Given the description of an element on the screen output the (x, y) to click on. 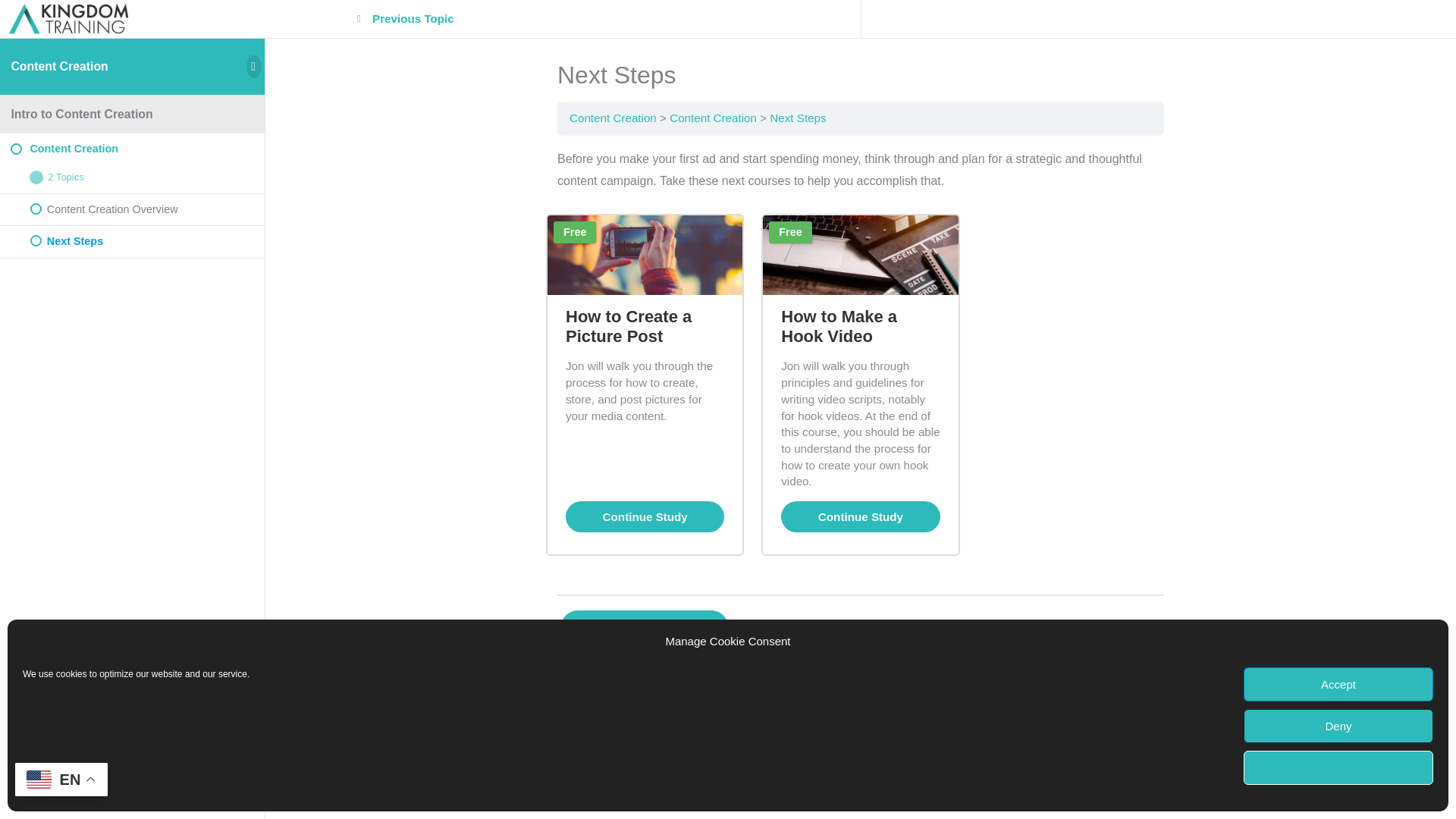
Content Creation (58, 65)
Accept (1337, 684)
Next Steps (797, 117)
Content Creation (132, 148)
Continue Study (644, 516)
Content Creation (612, 117)
Content Creation Overview (132, 209)
Back to Lesson (861, 626)
Content Creation (713, 117)
Previous Topic (410, 19)
Previous Topic (644, 626)
Next Steps (132, 241)
Continue Study (859, 516)
